Given the description of an element on the screen output the (x, y) to click on. 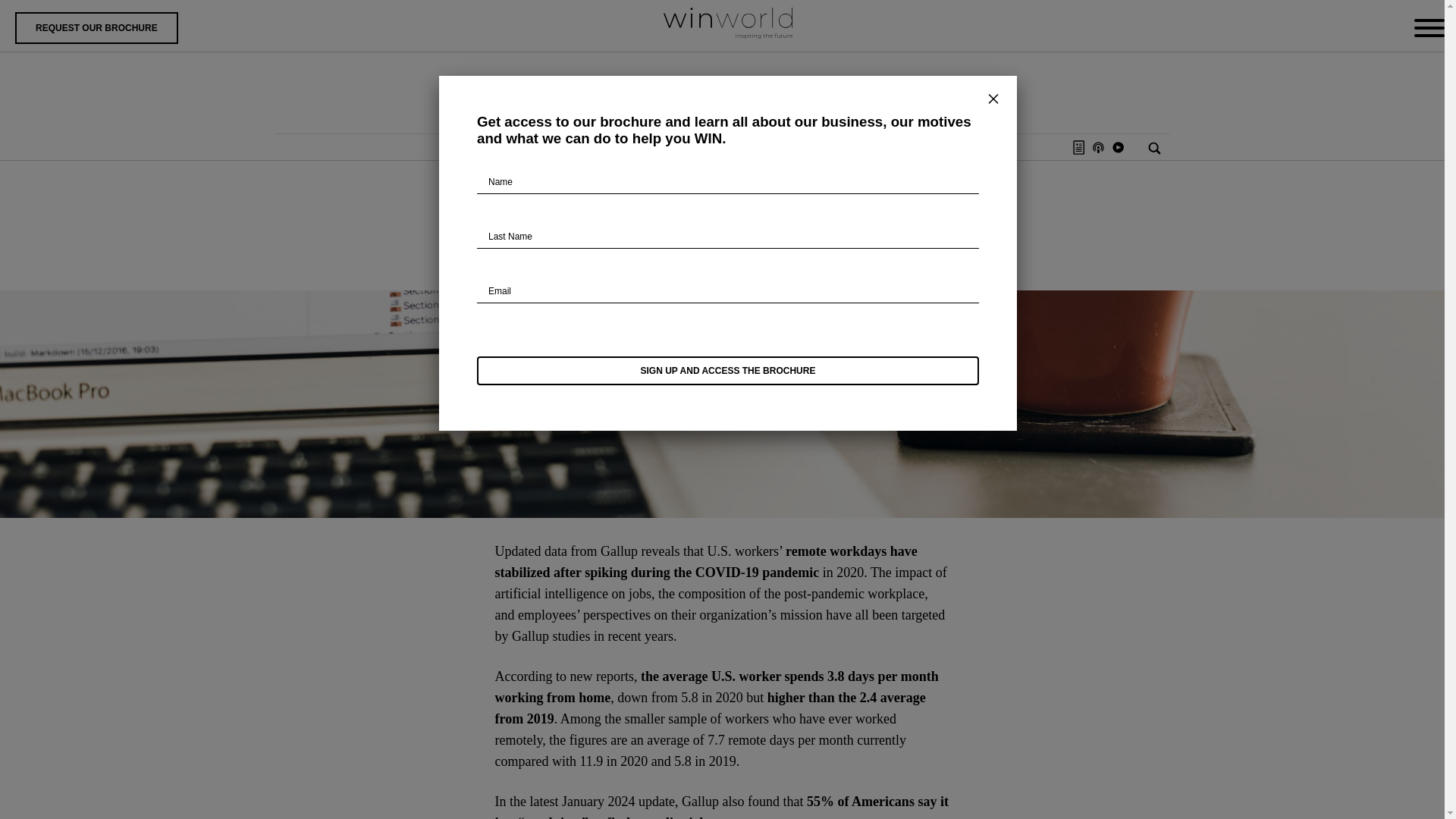
Growing Minds (652, 147)
Forefront at Work (555, 147)
REQUEST OUR BROCHURE (95, 28)
Life at Large (740, 147)
Science and Tech Roars (847, 147)
Human Affairs (957, 147)
WIN WORLD NEWSROOM (722, 93)
Forefront at Work (726, 206)
Further (476, 147)
